Given the description of an element on the screen output the (x, y) to click on. 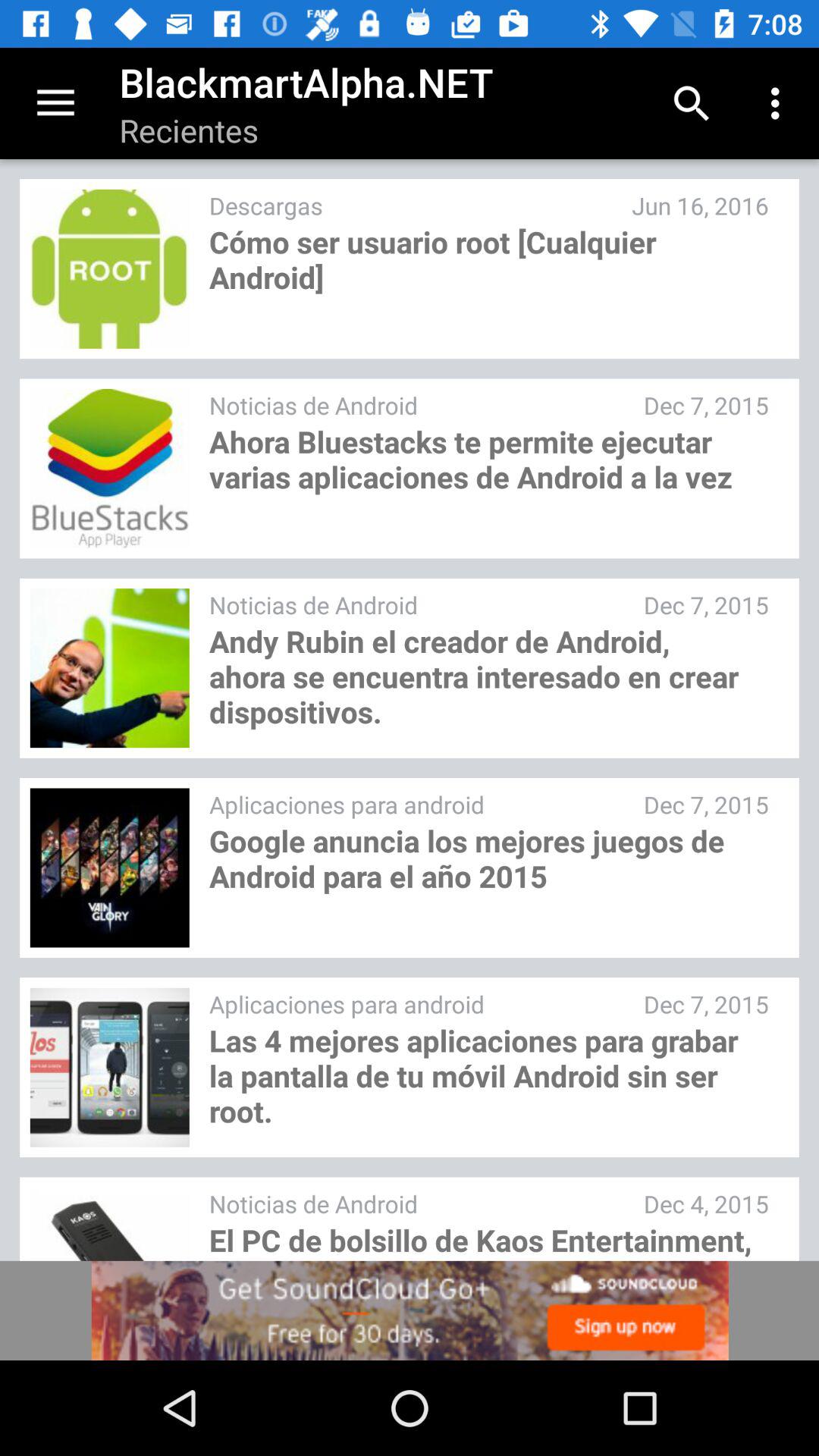
open advertisement (409, 1310)
